Given the description of an element on the screen output the (x, y) to click on. 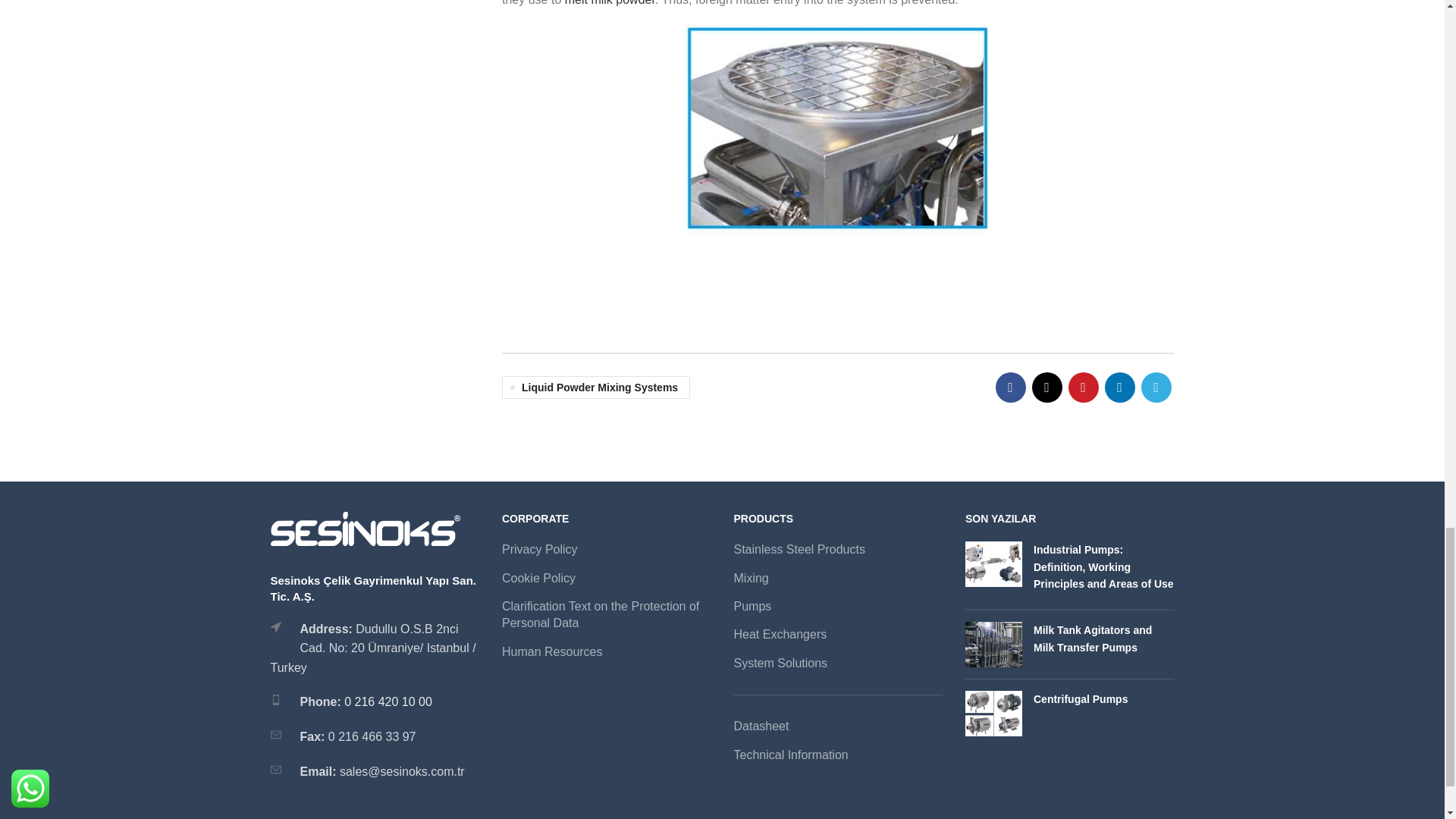
Using Blender 5 (837, 130)
wd-cursor-dark (275, 626)
sesinoks-4logo-beyaz (364, 528)
Permalink to Centrifugal Pumps (1079, 698)
wd-phone-dark (275, 699)
Permalink to Milk Tank Agitators and Milk Transfer Pumps (1092, 638)
wd-envelope-dark (275, 769)
wd-envelope-dark (275, 734)
